Given the description of an element on the screen output the (x, y) to click on. 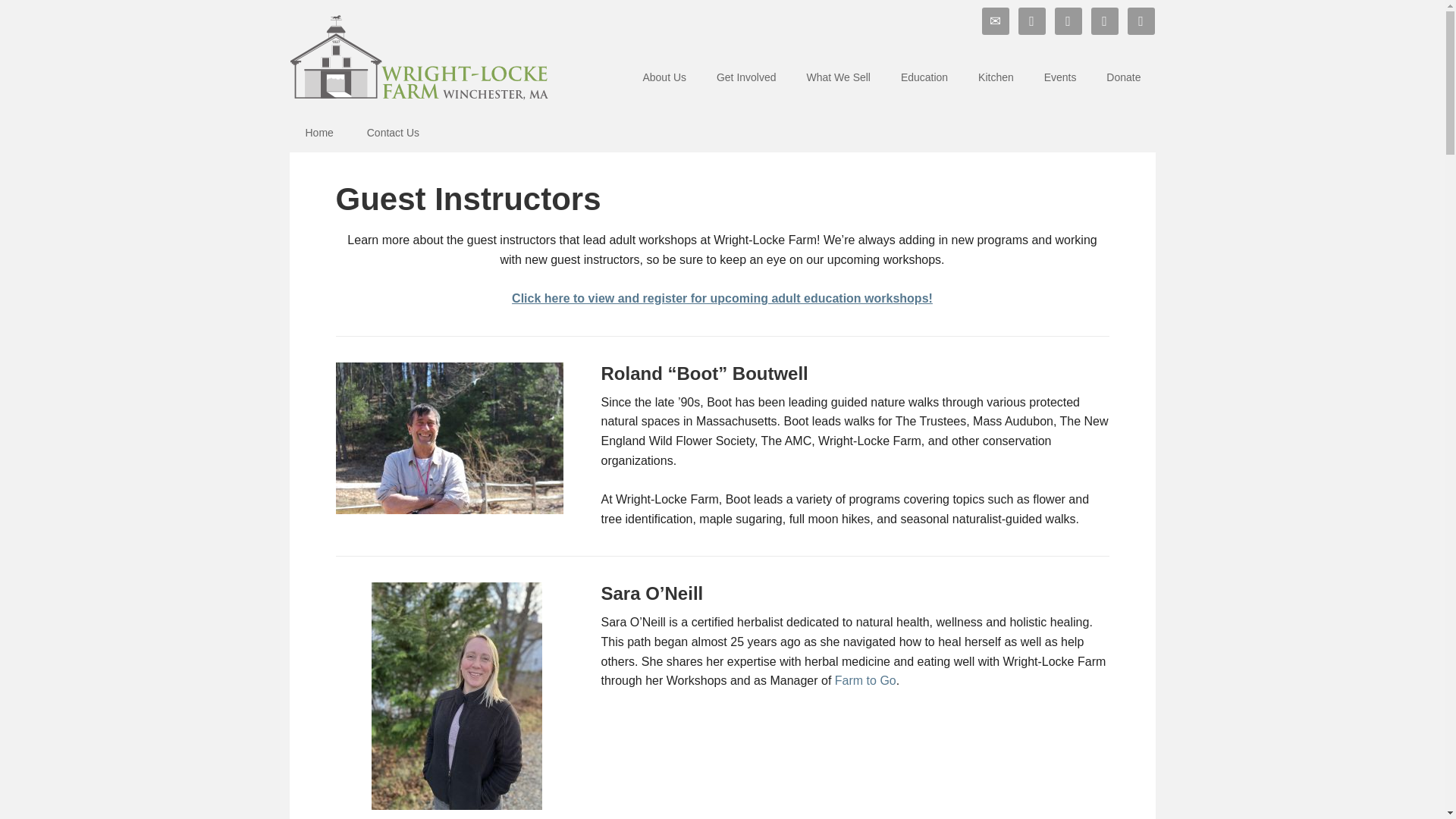
What We Sell (837, 78)
Wright-Locke Farm (418, 49)
Get Involved (746, 78)
Education (923, 78)
About Us (664, 78)
